Given the description of an element on the screen output the (x, y) to click on. 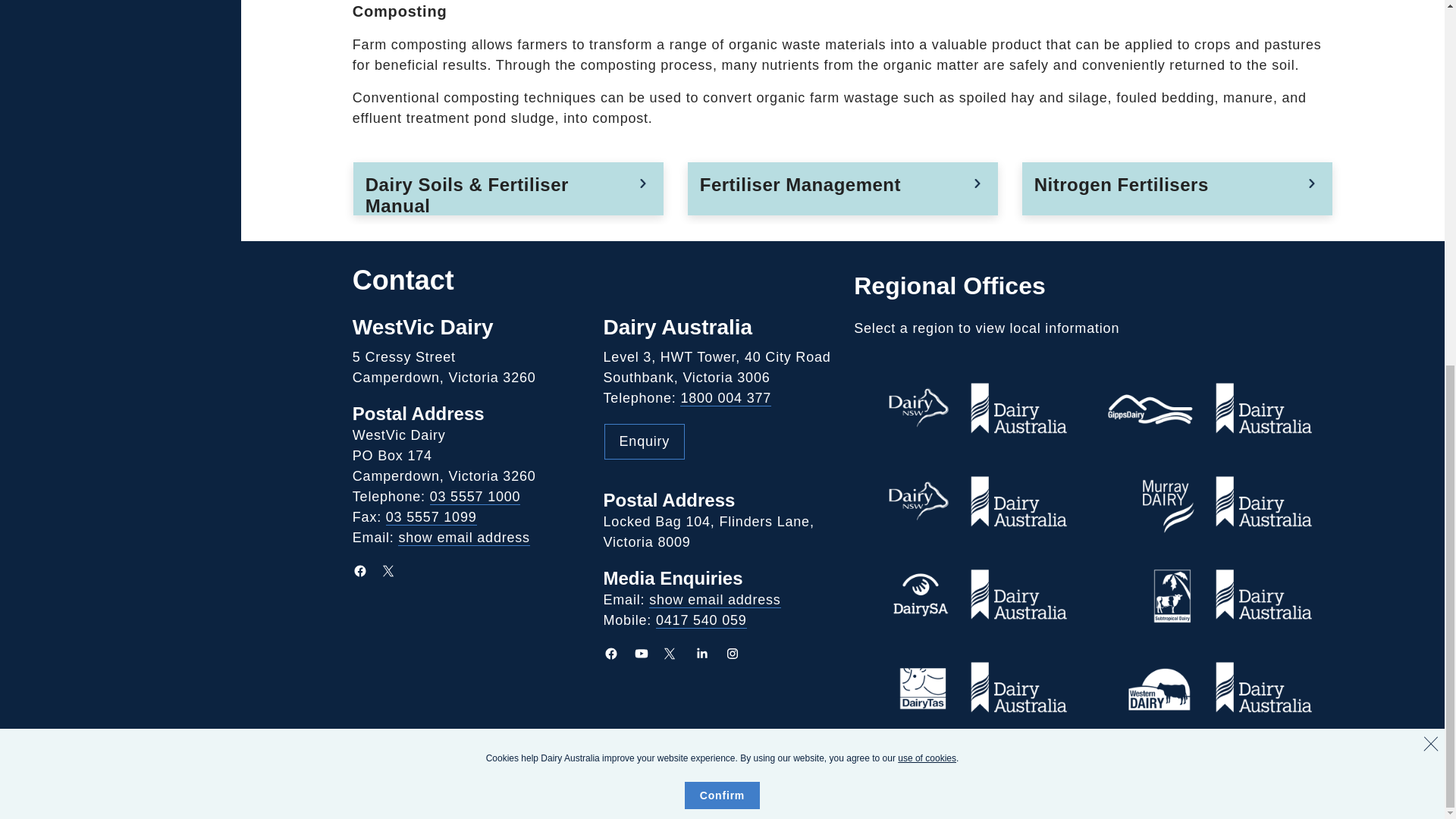
call dairy australia office number (725, 398)
call media enquiries mobile number (701, 620)
Enquiry (644, 441)
call dairy australia office number (431, 517)
call dairy australia office number (475, 496)
